Given the description of an element on the screen output the (x, y) to click on. 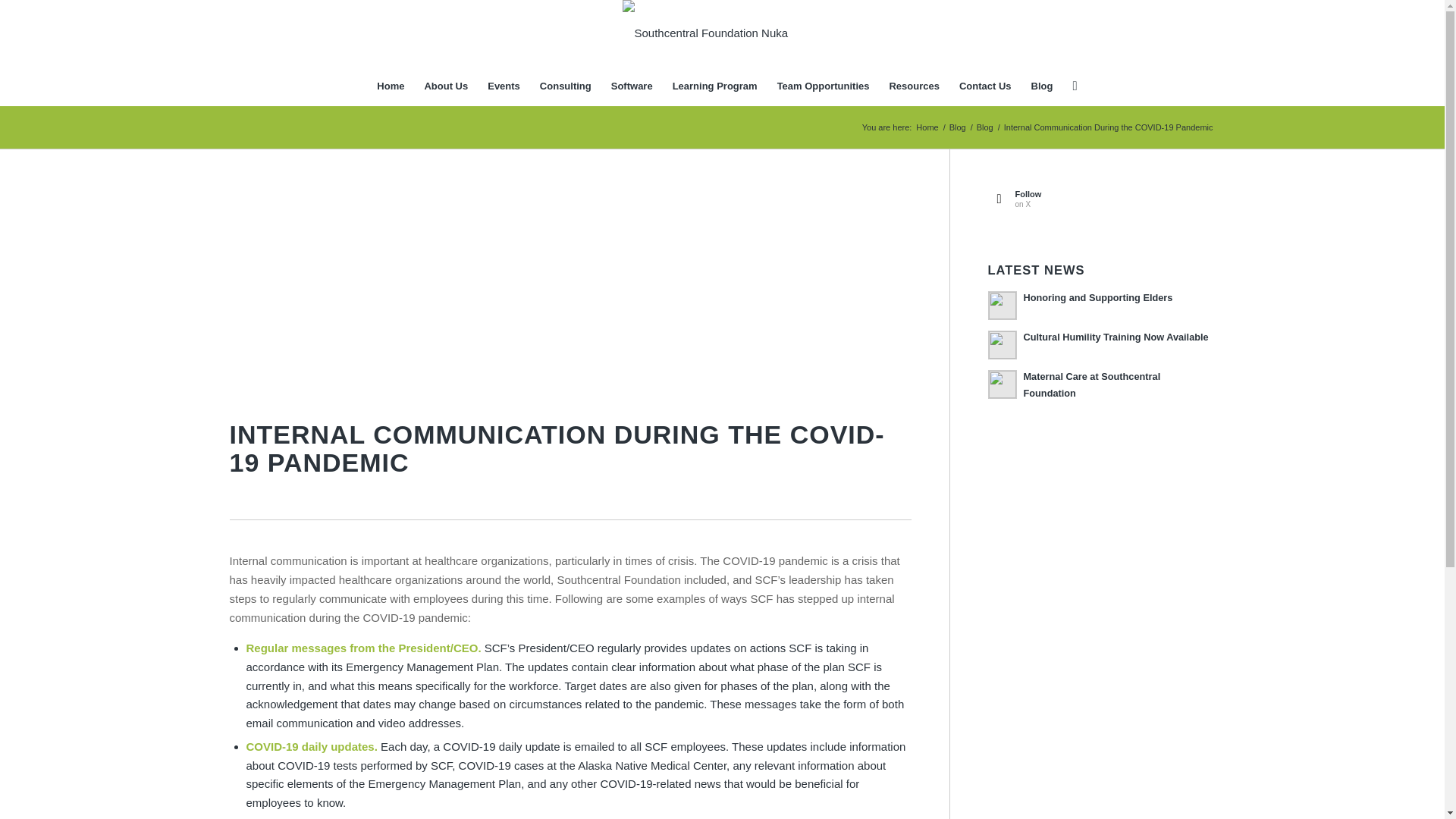
Blog (957, 127)
Read: Honoring and Supporting Elders (1098, 297)
Team Opportunities (823, 86)
Software (631, 86)
About Us (445, 86)
Home (389, 86)
Consulting (565, 86)
Read: Honoring and Supporting Elders (1001, 305)
Events (503, 86)
Resources (914, 86)
